Given the description of an element on the screen output the (x, y) to click on. 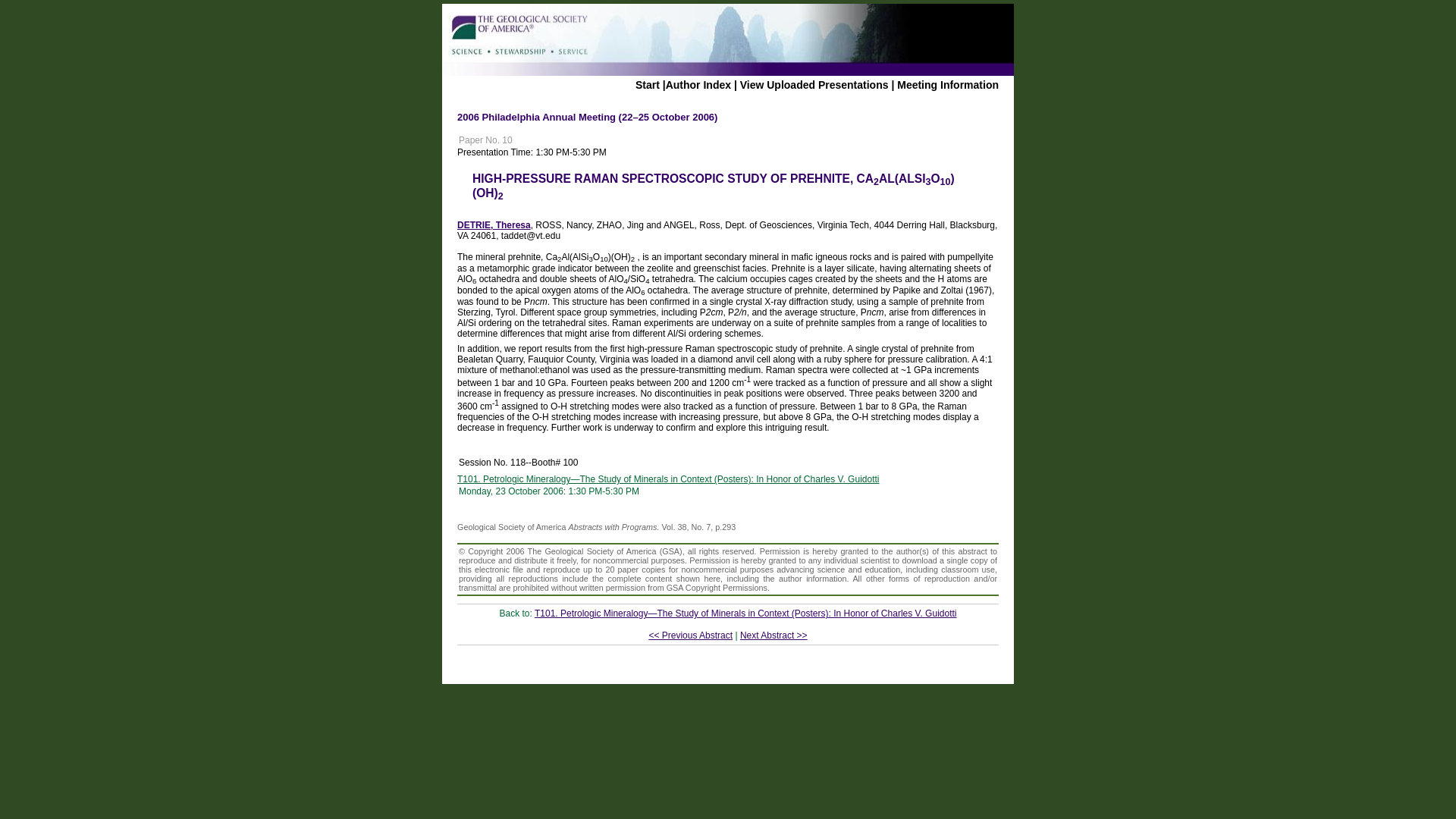
View Uploaded Presentations (813, 84)
Author Index (697, 84)
Meeting Information (947, 84)
Start (646, 84)
DETRIE, Theresa (494, 225)
